Given the description of an element on the screen output the (x, y) to click on. 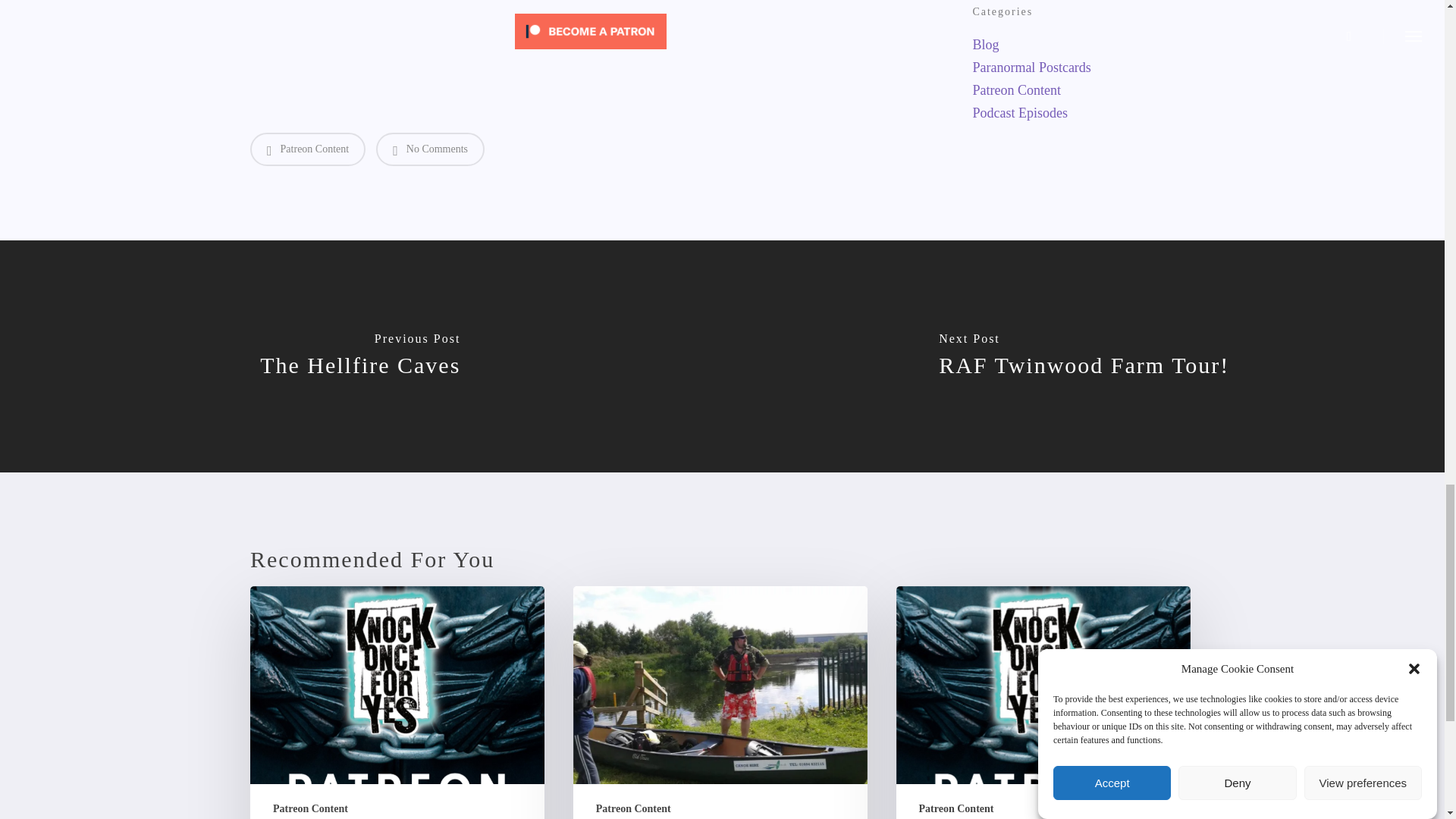
Paranormal Postcards (1082, 67)
Patreon Content (1082, 89)
Patreon Content (307, 149)
Podcast Episodes (1082, 112)
Blog (1082, 44)
No Comments (429, 149)
